Given the description of an element on the screen output the (x, y) to click on. 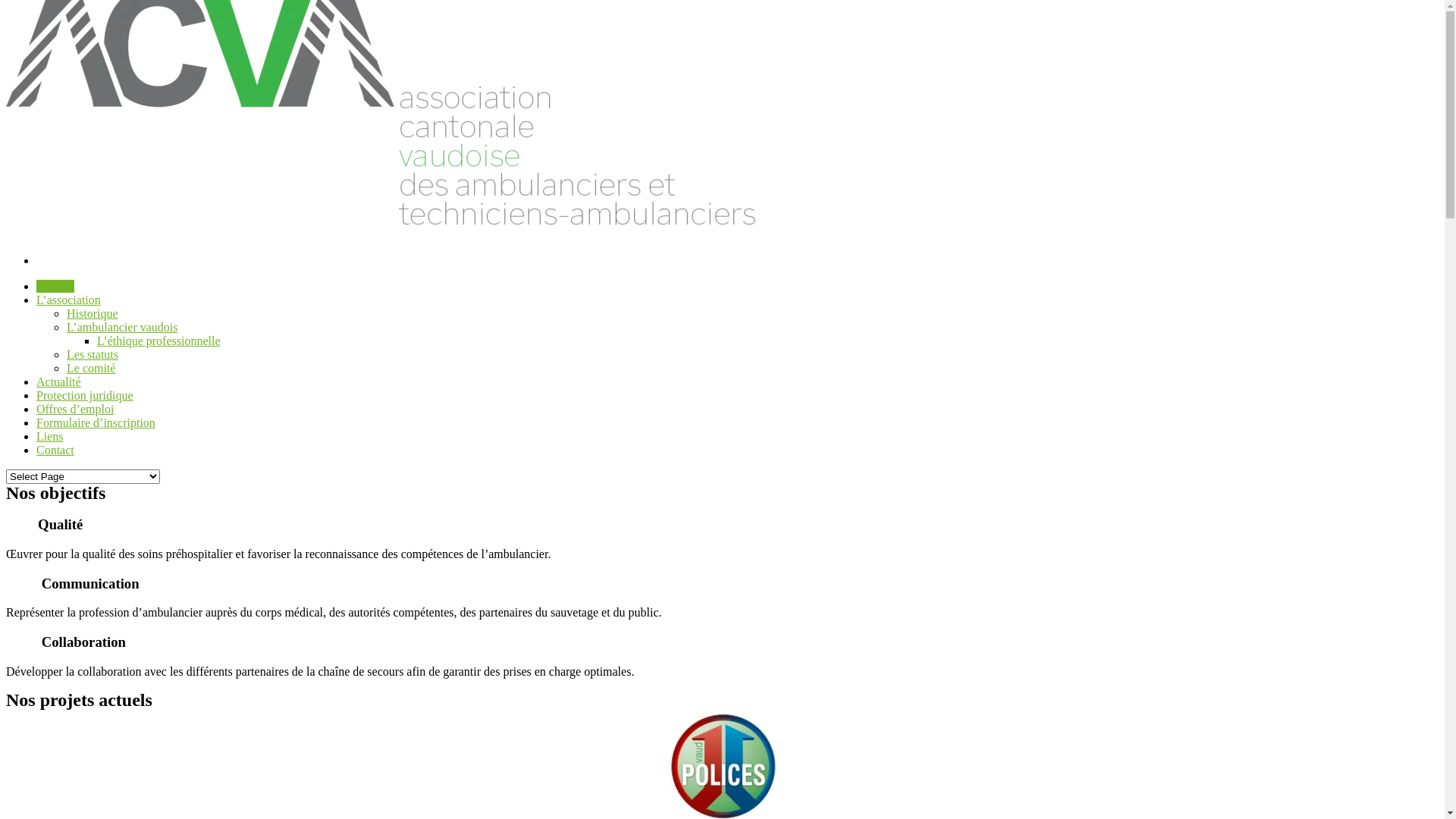
Ambulanciers vaud Element type: hover (394, 234)
Historique Element type: text (92, 313)
Accueil Element type: text (55, 285)
Protection juridique Element type: text (84, 395)
Les statuts Element type: text (92, 354)
Liens Element type: text (49, 435)
Contact Element type: text (55, 449)
